Given the description of an element on the screen output the (x, y) to click on. 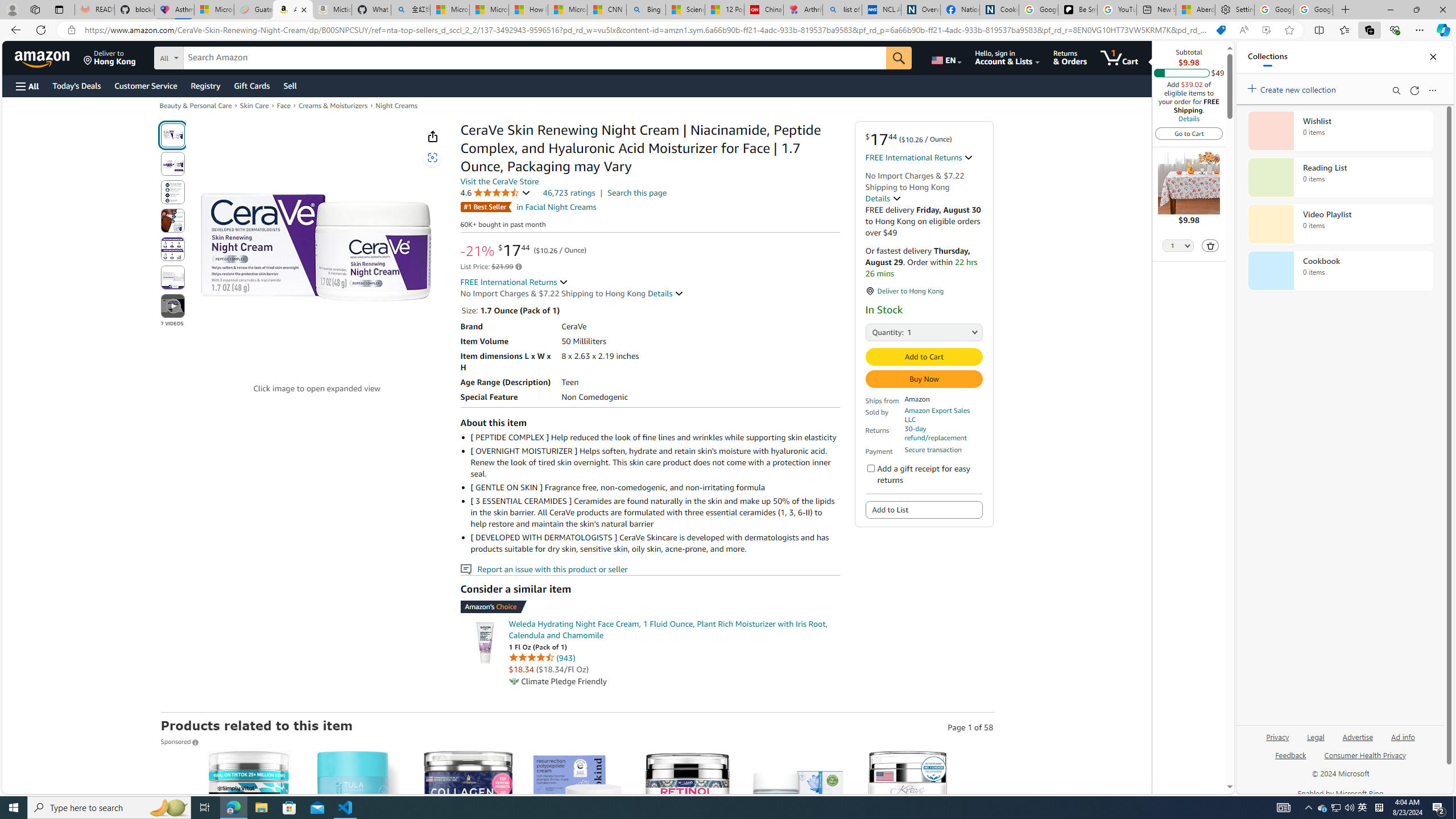
Details (1188, 118)
Cookies (999, 9)
Add to List (924, 509)
Search this page (636, 192)
Skin Care (253, 105)
Today's Deals (76, 85)
Quantity Selector (1177, 246)
